Given the description of an element on the screen output the (x, y) to click on. 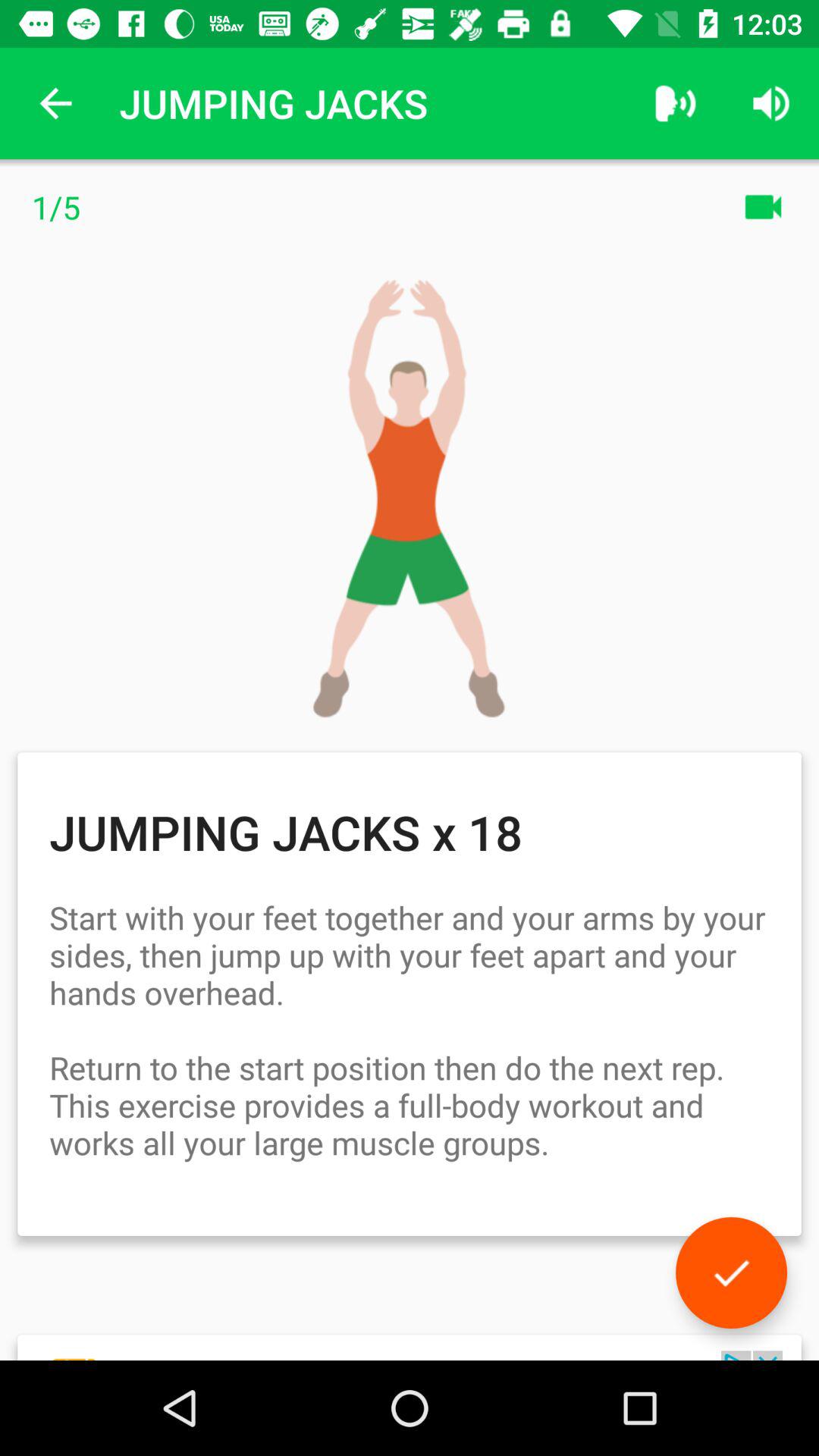
press the app to the right of jumping jacks (675, 103)
